Given the description of an element on the screen output the (x, y) to click on. 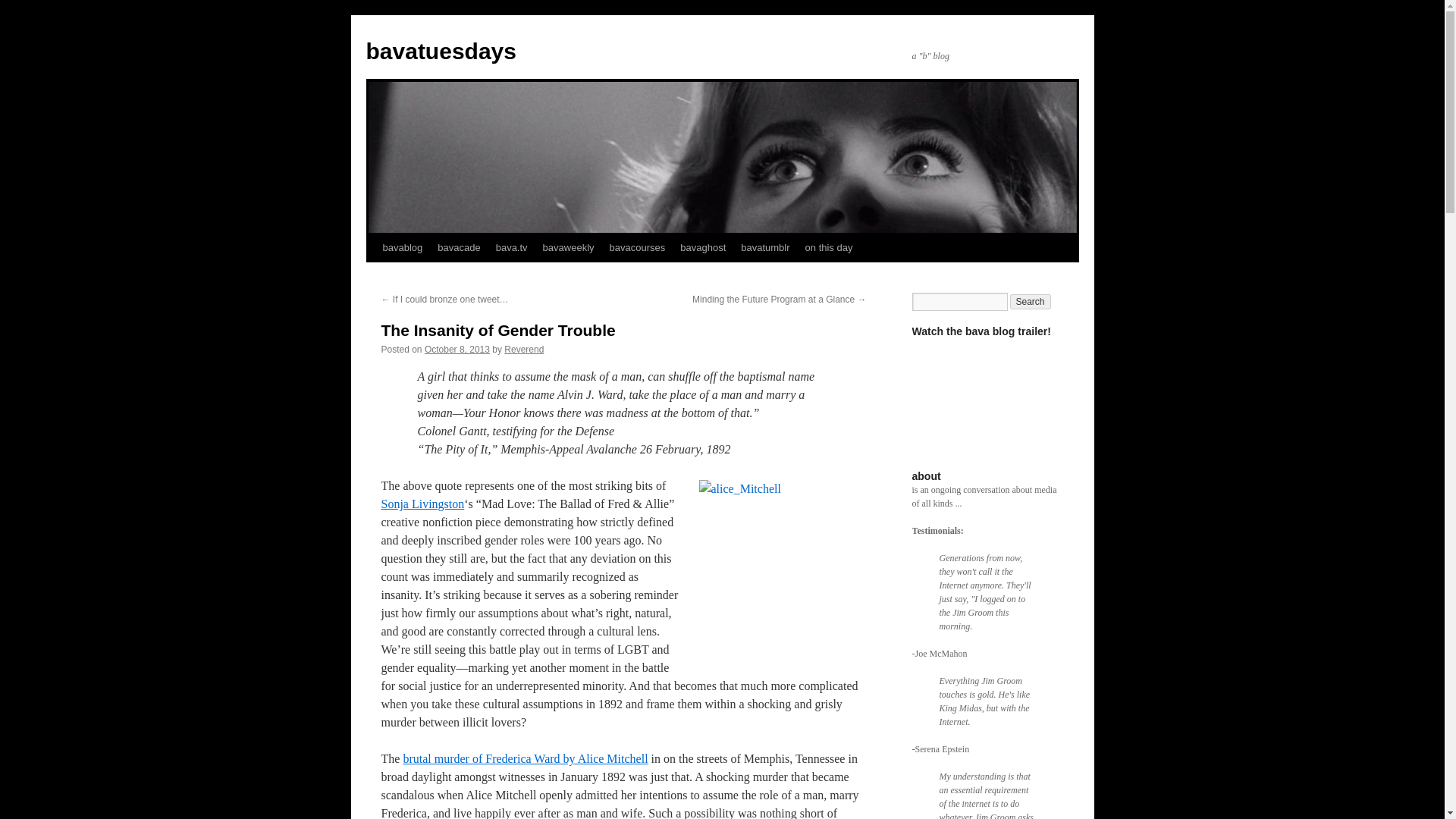
bavacade (458, 247)
bavablog (401, 247)
October 8, 2013 (457, 348)
on this day (828, 247)
3:43 pm (457, 348)
Search (1030, 301)
bavaweekly (568, 247)
brutal murder of Frederica Ward by Alice Mitchell (525, 758)
bavaghost (702, 247)
bavacourses (637, 247)
